Given the description of an element on the screen output the (x, y) to click on. 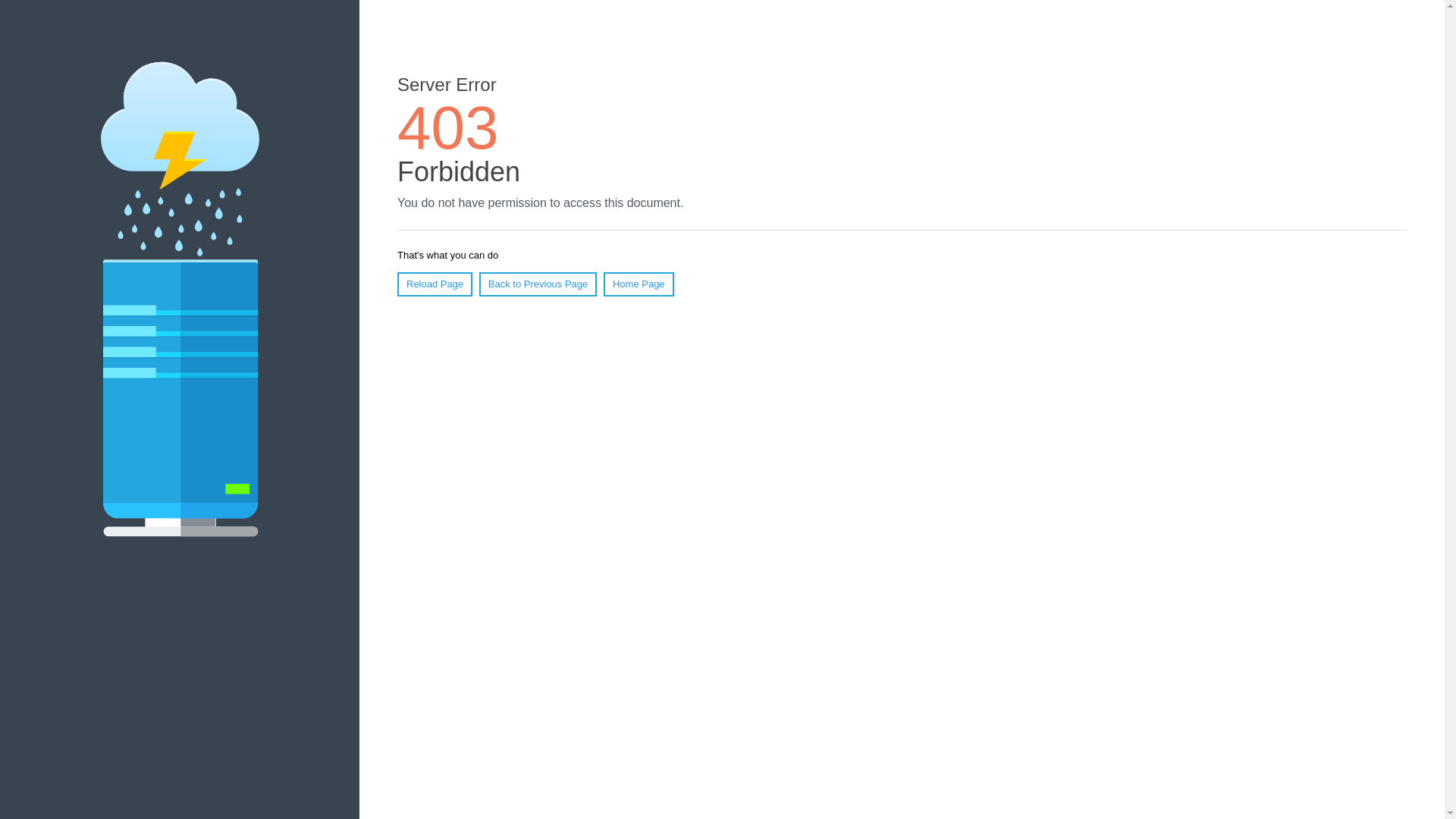
Back to Previous Page Element type: text (538, 284)
Reload Page Element type: text (434, 284)
Home Page Element type: text (638, 284)
